Given the description of an element on the screen output the (x, y) to click on. 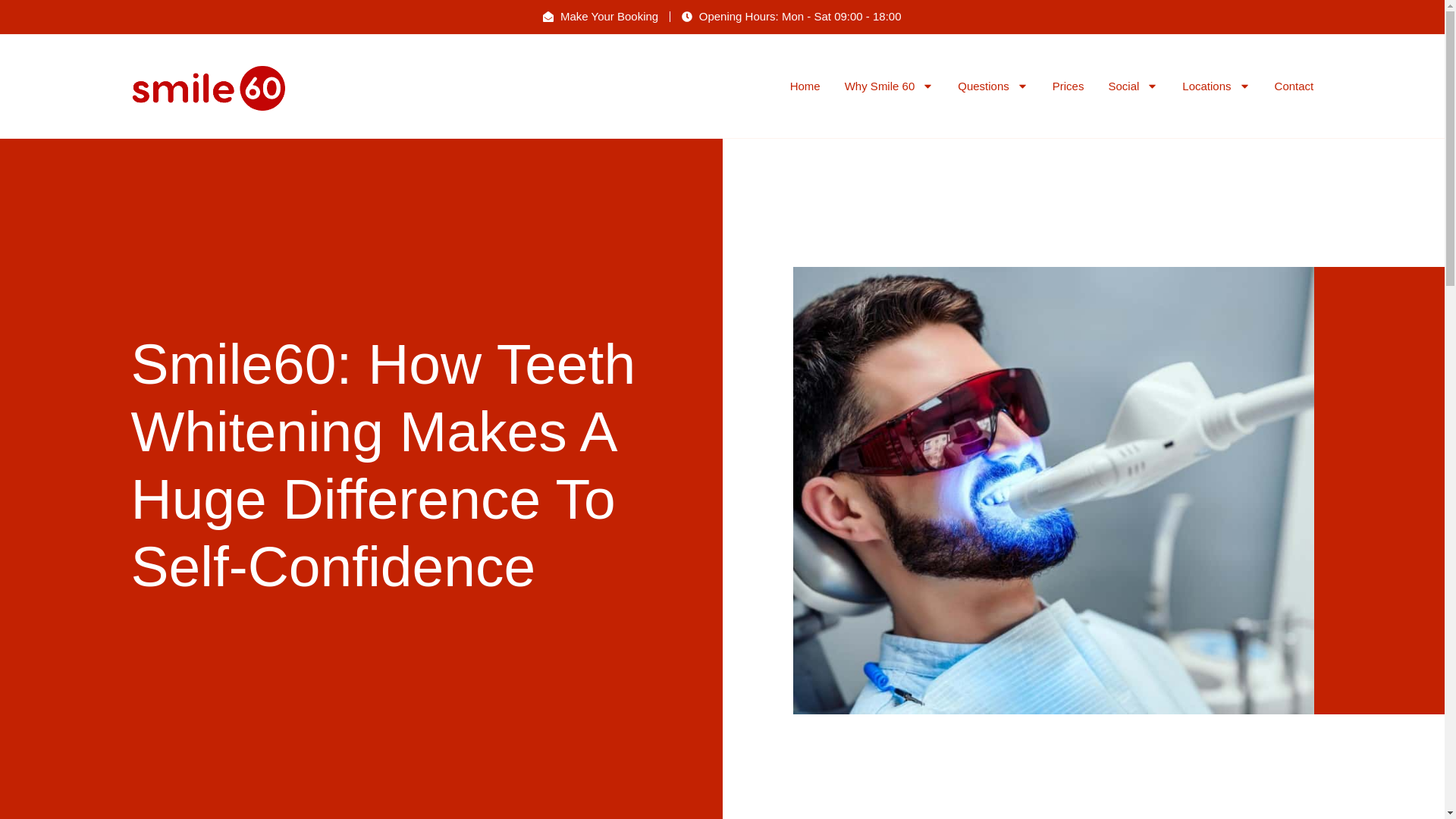
Prices (1068, 86)
Questions (992, 86)
Why Smile 60 (889, 86)
Home (805, 86)
Locations (1215, 86)
Make Your Booking (600, 16)
Social (1132, 86)
